Given the description of an element on the screen output the (x, y) to click on. 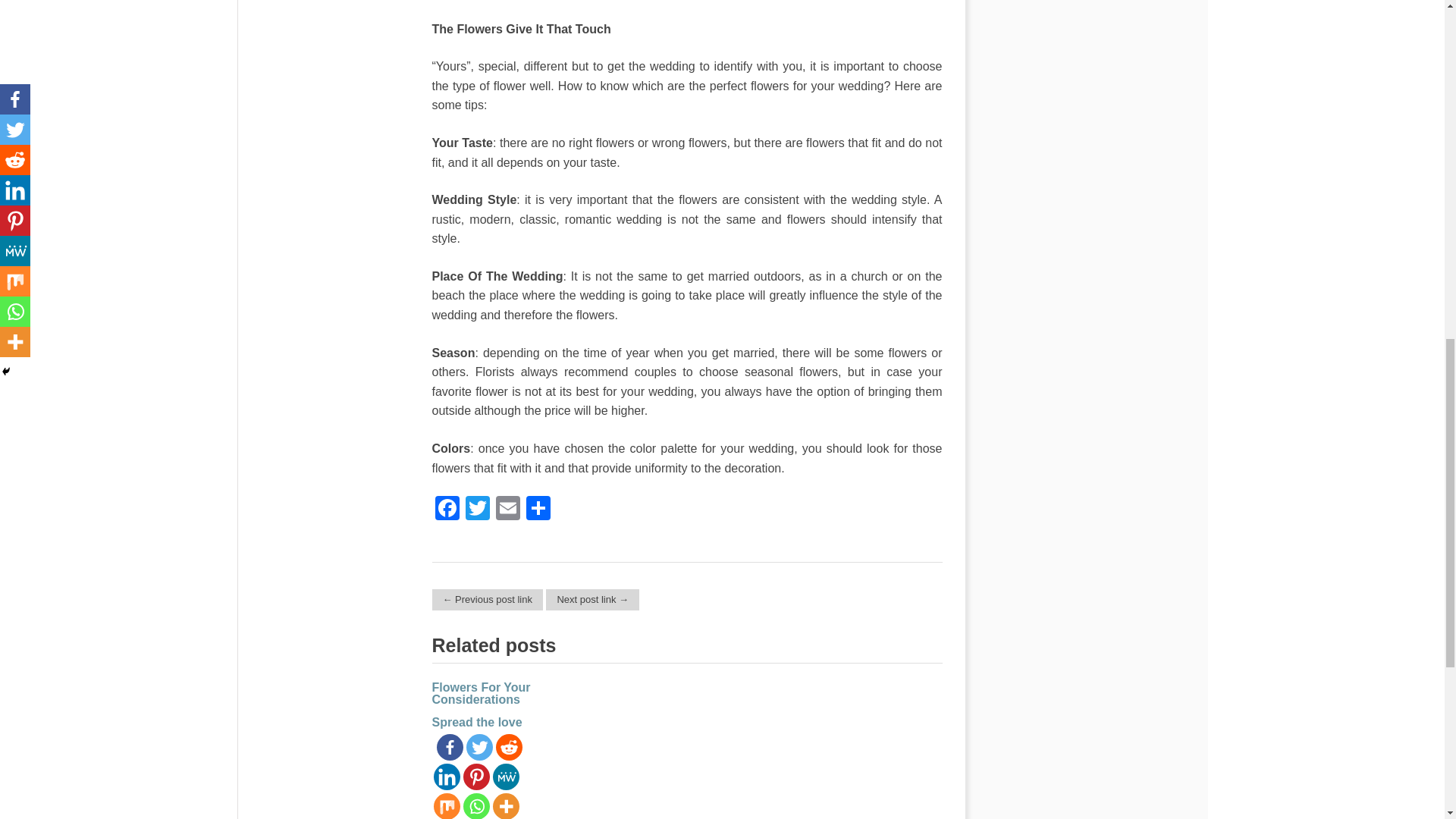
Email (507, 510)
Twitter (478, 510)
Twitter (478, 510)
Facebook (447, 510)
Facebook (447, 510)
Email (507, 510)
